Given the description of an element on the screen output the (x, y) to click on. 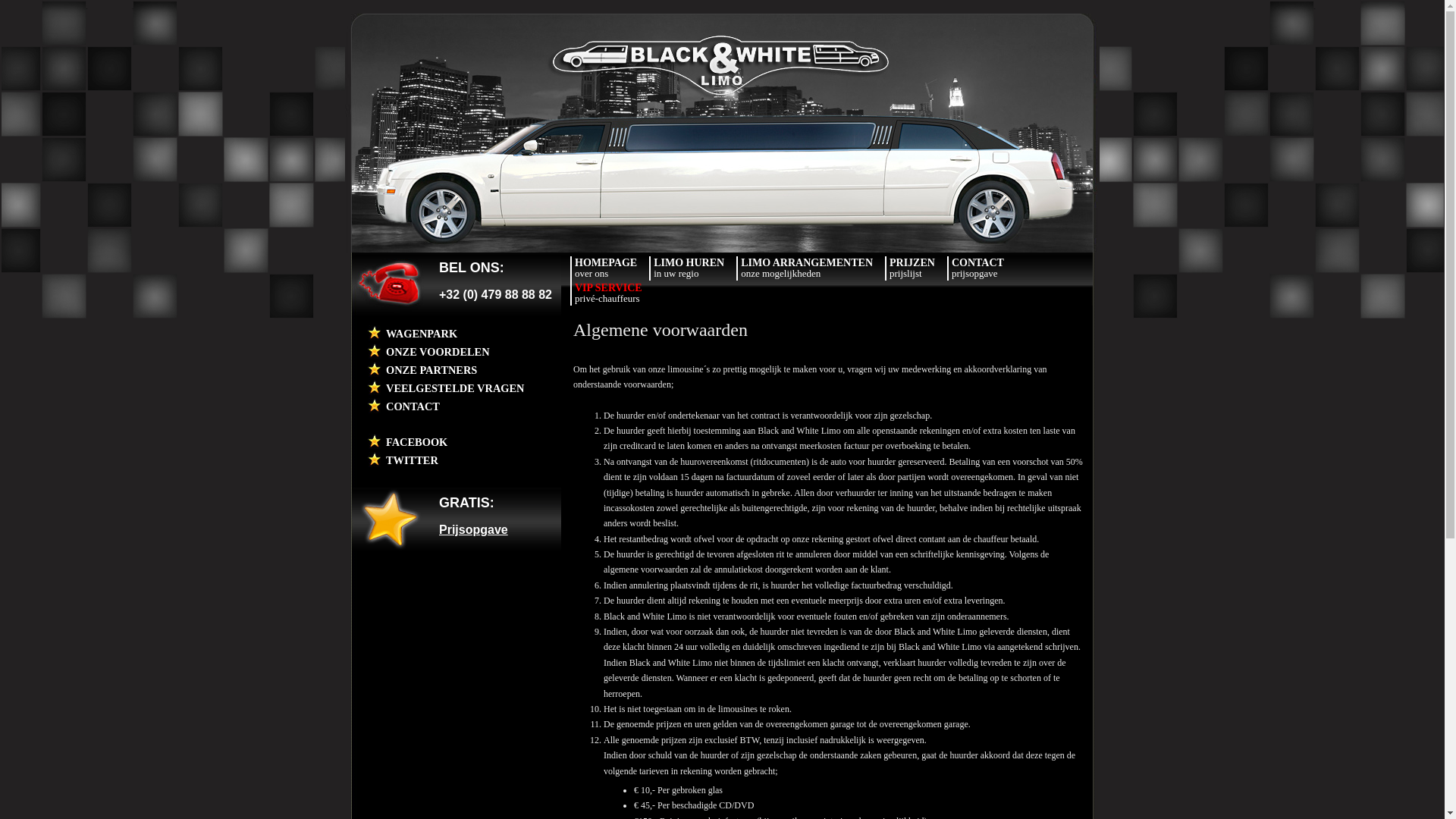
HOMEPAGE
over ons Element type: text (605, 268)
Prijsopgave Element type: text (473, 529)
ONZE VOORDELEN Element type: text (437, 351)
VEELGESTELDE VRAGEN Element type: text (454, 388)
WAGENPARK Element type: text (421, 333)
PRIJZEN
prijslijst Element type: text (912, 268)
TWITTER Element type: text (411, 460)
LIMO ARRANGEMENTEN
onze mogelijkheden Element type: text (806, 268)
FACEBOOK Element type: text (416, 442)
CONTACT
prijsopgave Element type: text (977, 268)
ONZE PARTNERS Element type: text (430, 370)
CONTACT Element type: text (412, 406)
Home Element type: hover (722, 249)
LIMO HUREN
in uw regio Element type: text (688, 268)
Skip to main content Element type: text (37, 7)
